Given the description of an element on the screen output the (x, y) to click on. 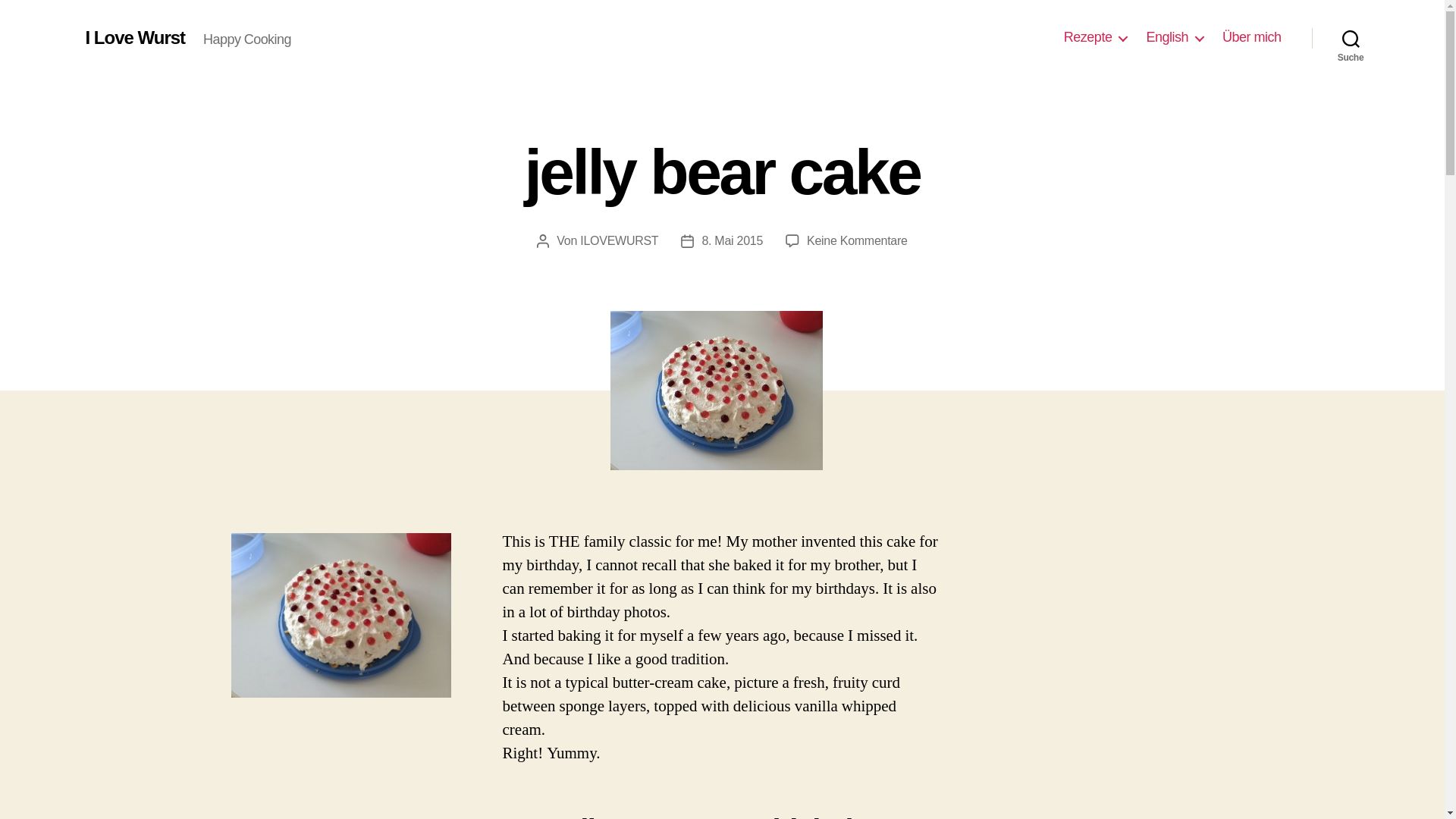
English (1174, 37)
Rezepte (1095, 37)
Suche (1350, 37)
I Love Wurst (134, 37)
